Given the description of an element on the screen output the (x, y) to click on. 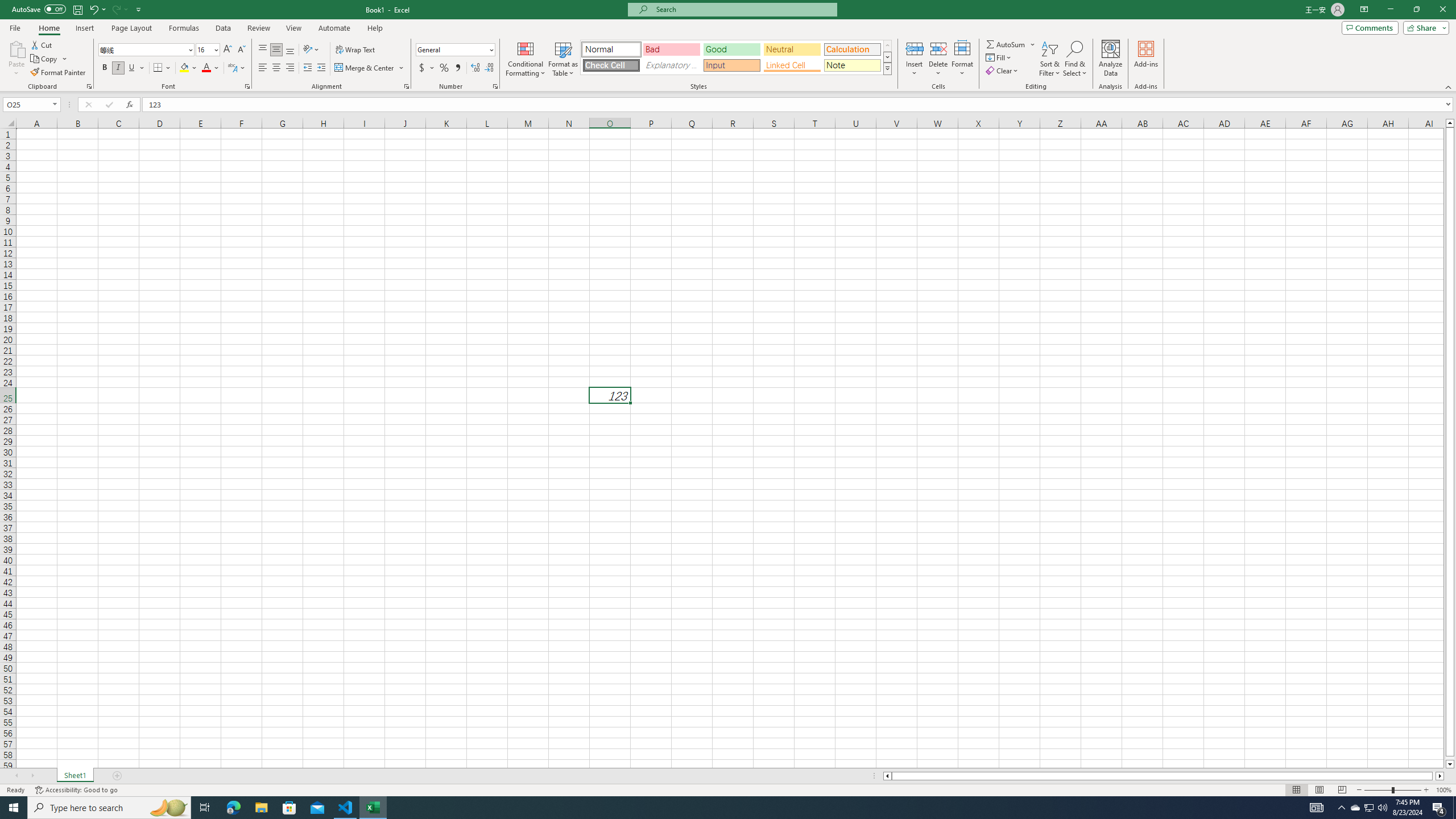
AutomationID: CellStylesGallery (736, 57)
Copy (45, 58)
Decrease Decimal (489, 67)
Number Format (455, 49)
Italic (118, 67)
Copy (49, 58)
Insert Cells (914, 48)
